Given the description of an element on the screen output the (x, y) to click on. 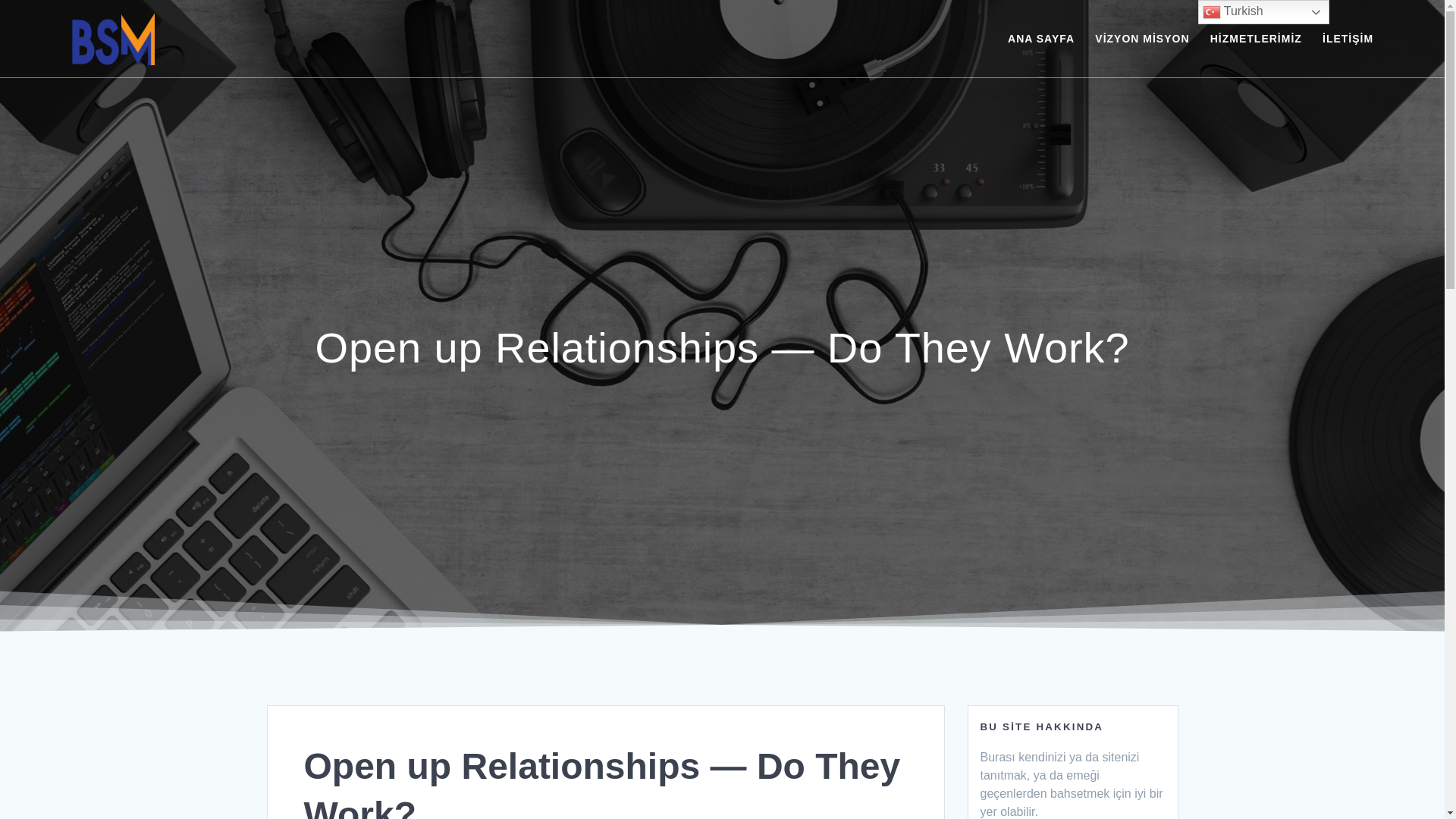
VIZYON MISYON (1141, 38)
ANA SAYFA (1040, 38)
HIZMETLERIMIZ (1255, 38)
